Given the description of an element on the screen output the (x, y) to click on. 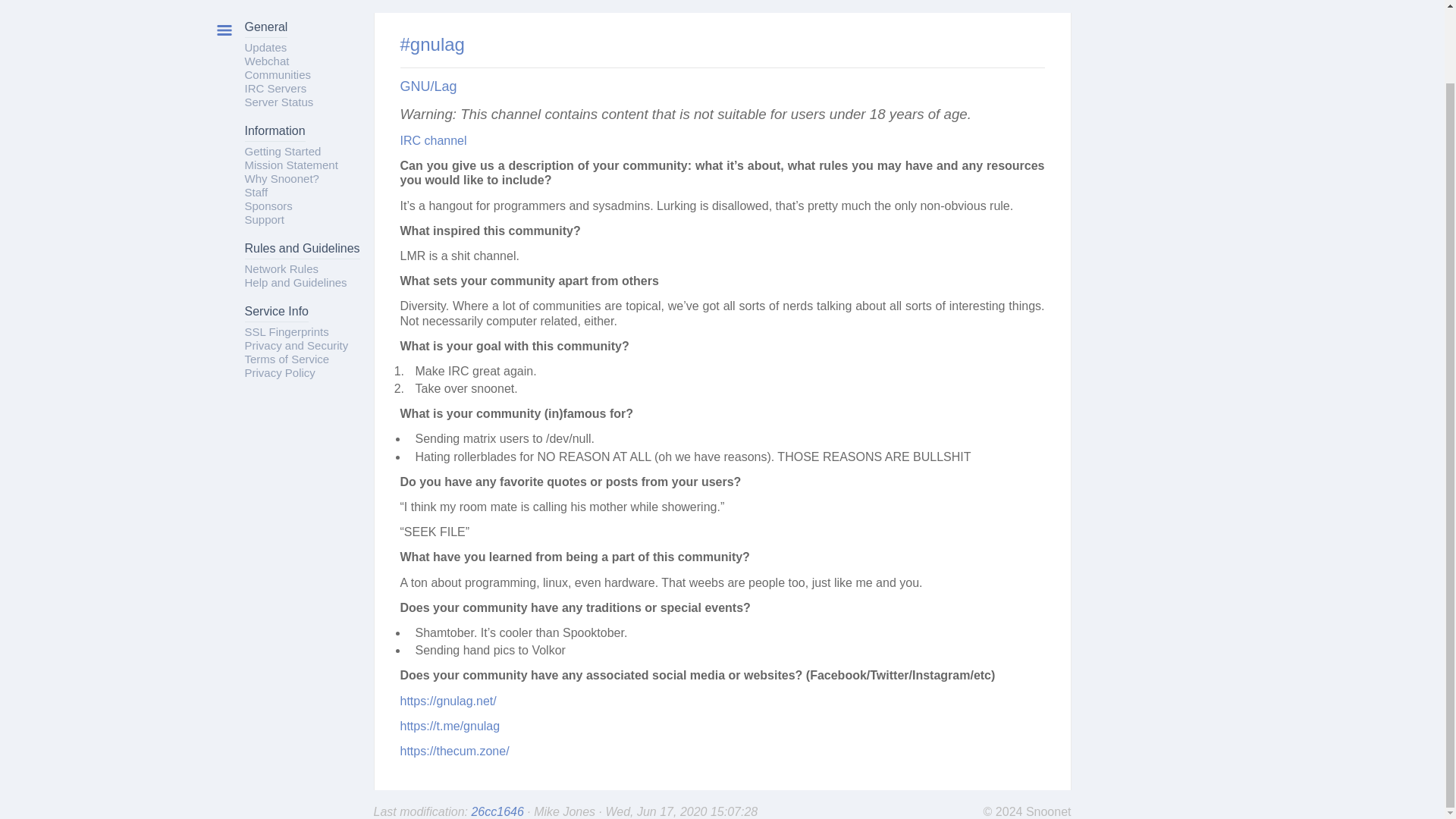
Privacy and Security (295, 345)
Getting Started (282, 151)
Why Snoonet? (281, 178)
SSL Fingerprints (286, 331)
Help and Guidelines (295, 282)
General (265, 28)
Staff (255, 192)
Rules and Guidelines (301, 250)
Information (274, 132)
26cc1646 (498, 811)
IRC channel (433, 140)
Webchat (266, 60)
Server Status (278, 101)
Support (263, 219)
Mission Statement (290, 164)
